Given the description of an element on the screen output the (x, y) to click on. 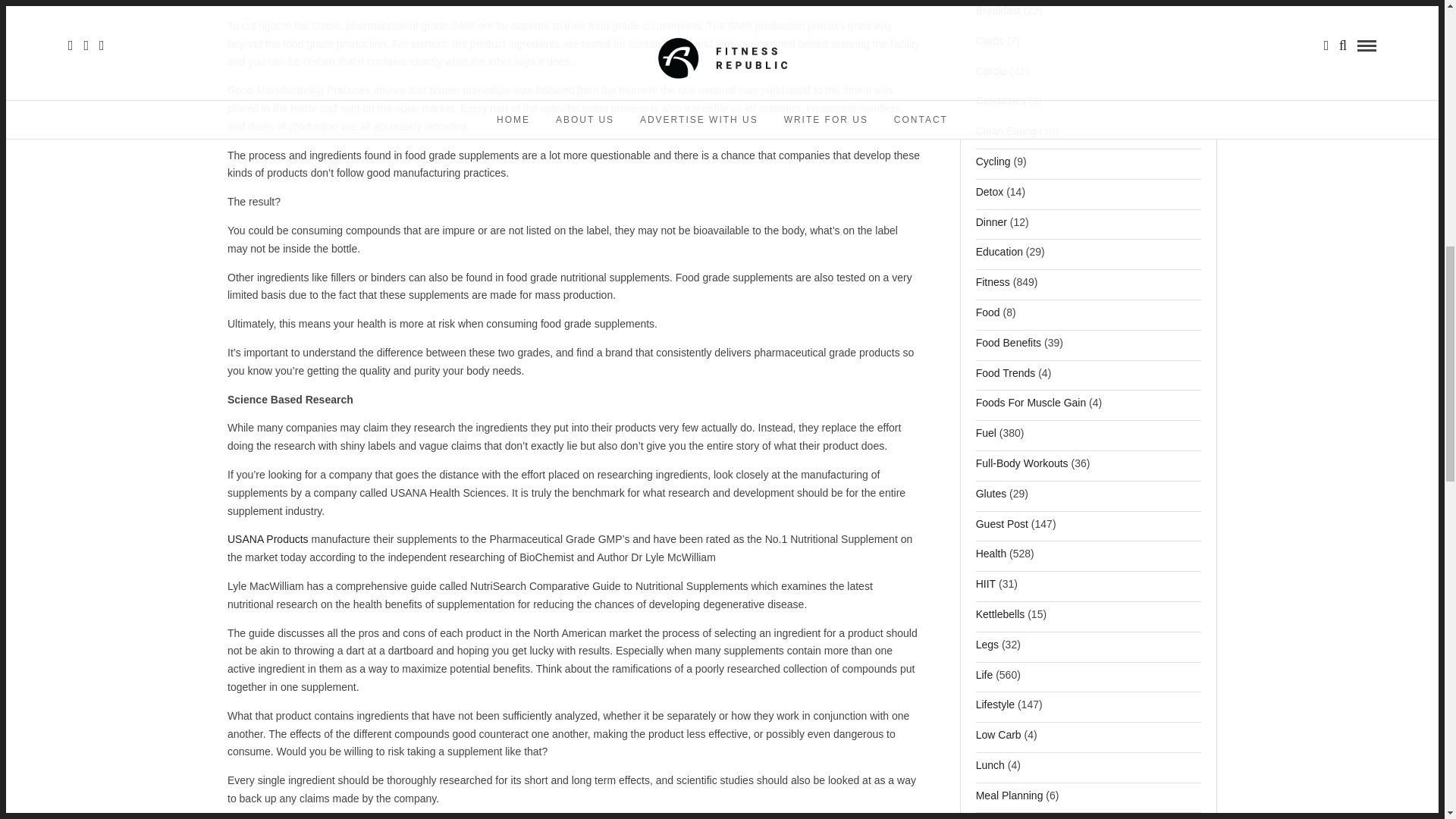
Cardio (991, 75)
Cycling (992, 166)
Fitness (992, 286)
Clean Eating (1005, 135)
Dinner (991, 226)
Celebrities (1000, 104)
Education (999, 256)
Detox (989, 196)
USANA Products (267, 539)
Breakfast (997, 14)
Carbs (989, 45)
